Given the description of an element on the screen output the (x, y) to click on. 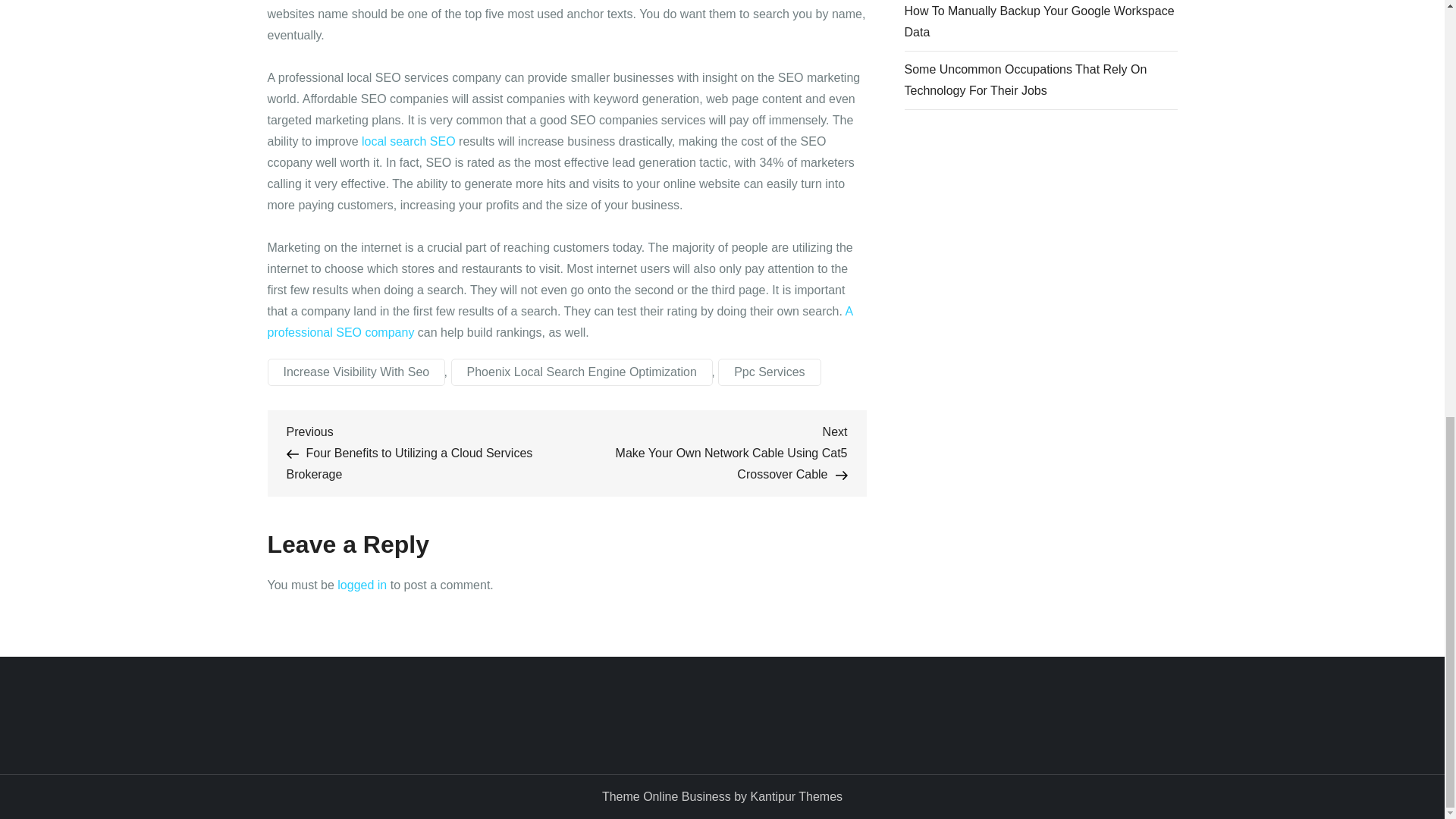
A professional SEO company (558, 321)
How To Manually Backup Your Google Workspace Data (1040, 21)
Phoenix Local Search Engine Optimization (582, 371)
Ppc Services (769, 371)
logged in (362, 584)
Kantipur Themes (797, 796)
Search engine firm (558, 321)
Increase Visibility With Seo (355, 371)
Website conversion rate, Affordable seo company (408, 141)
local search SEO (408, 141)
